Given the description of an element on the screen output the (x, y) to click on. 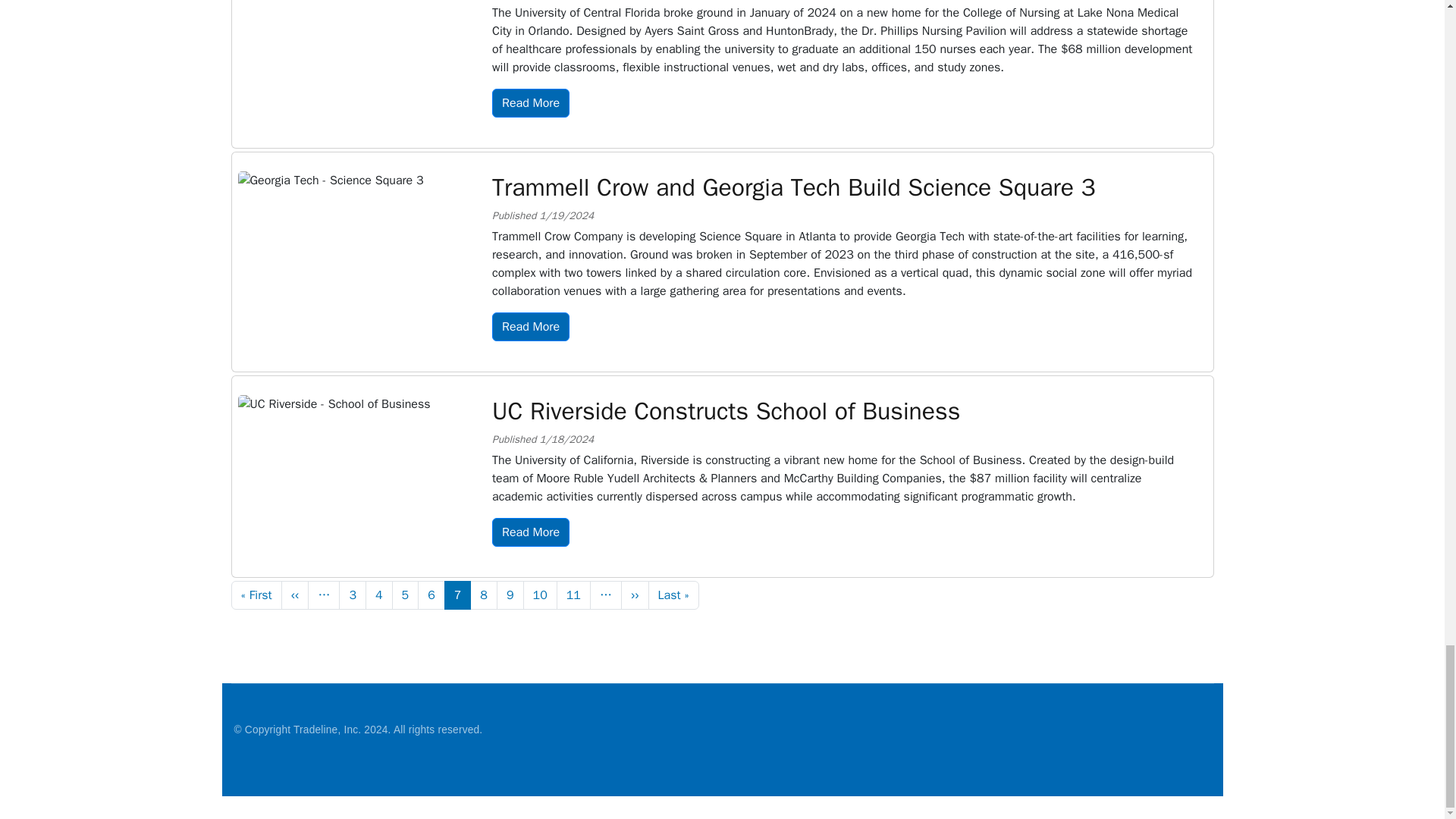
Go to next page (635, 594)
Go to last page (672, 594)
Go to first page (255, 594)
Go to previous page (294, 594)
